Given the description of an element on the screen output the (x, y) to click on. 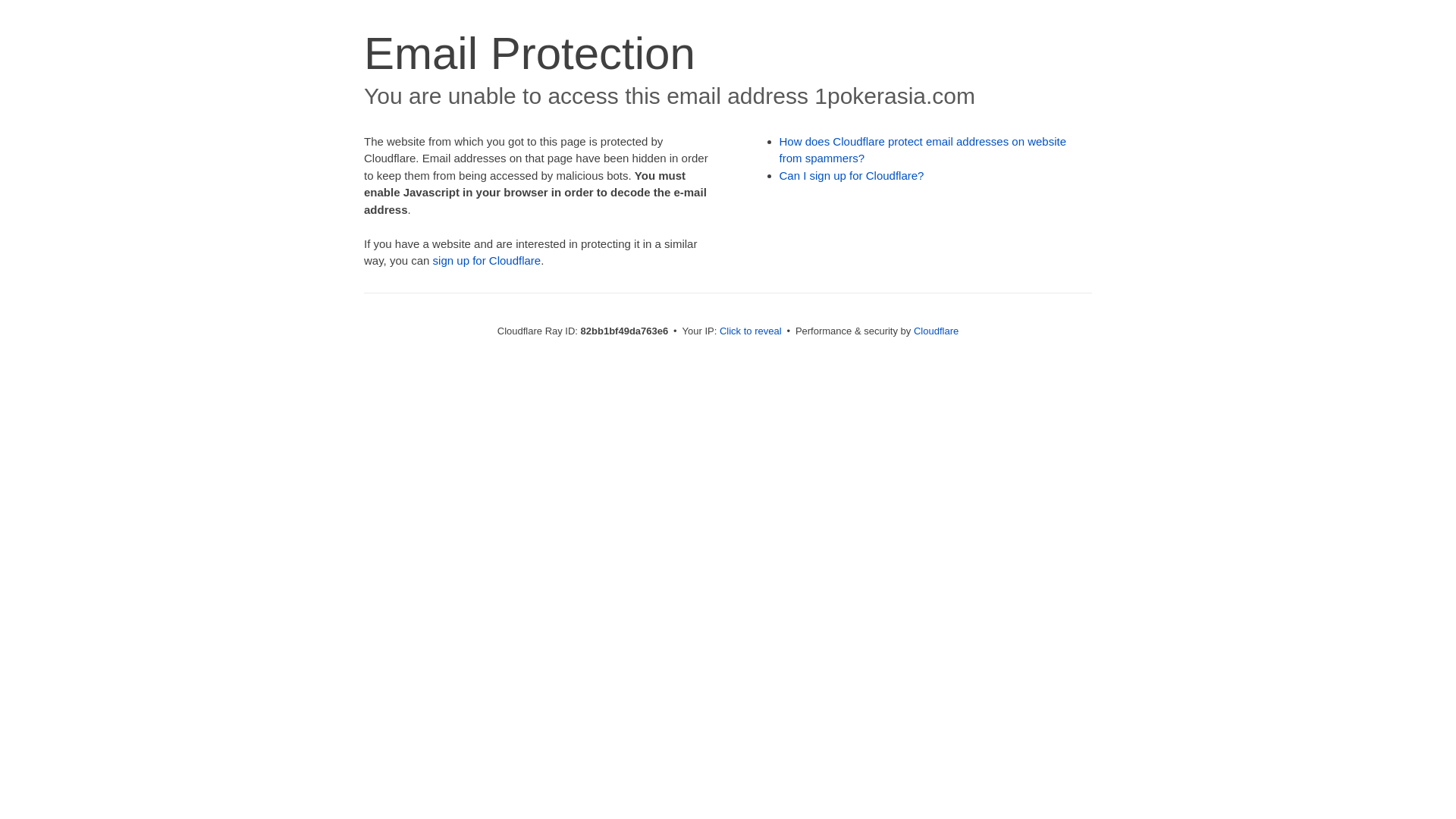
sign up for Cloudflare Element type: text (487, 260)
Click to reveal Element type: text (750, 330)
Cloudflare Element type: text (935, 330)
Can I sign up for Cloudflare? Element type: text (851, 175)
